Given the description of an element on the screen output the (x, y) to click on. 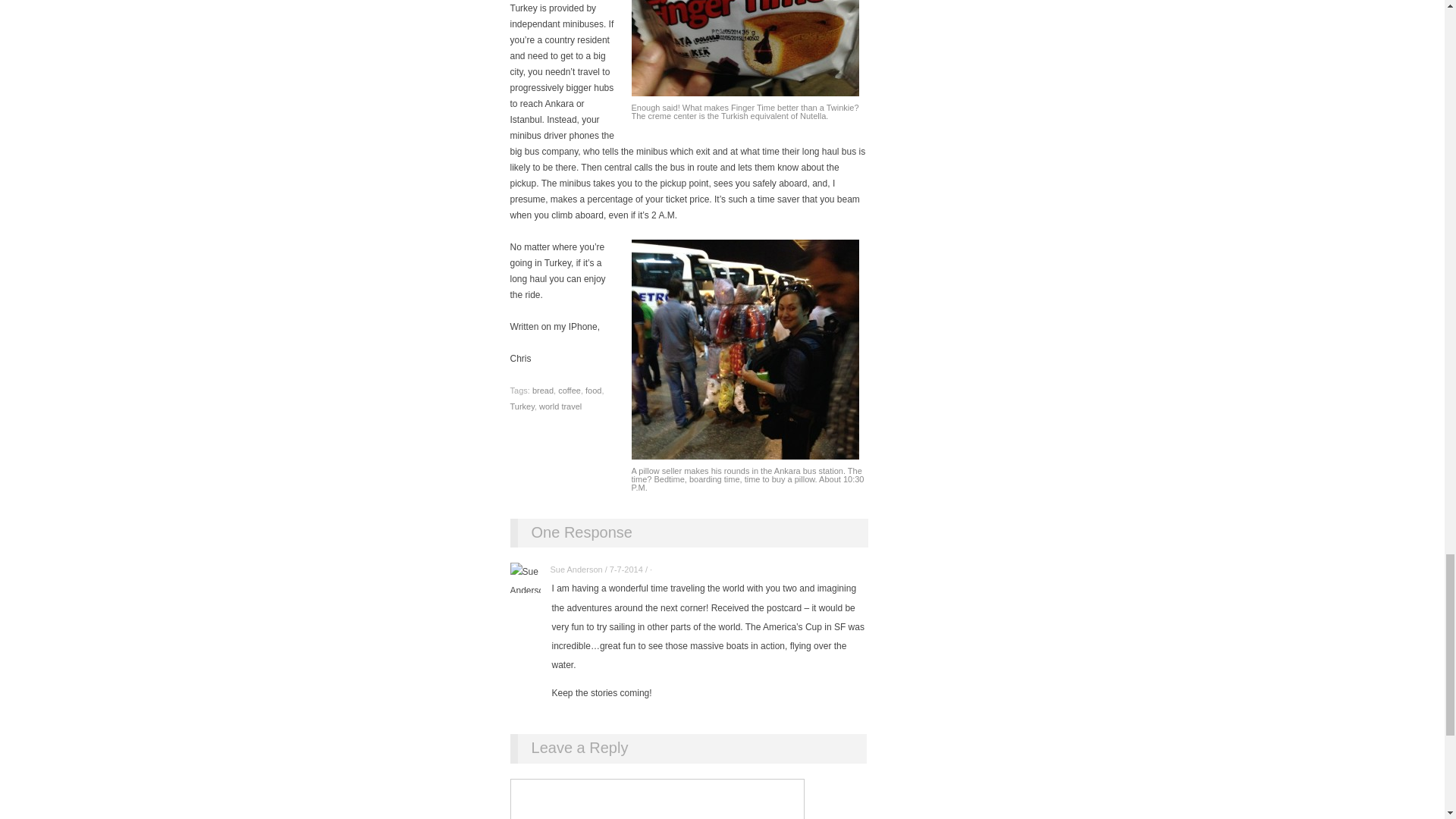
coffee (568, 389)
food (593, 389)
Turkey (522, 406)
bread (542, 389)
world travel (559, 406)
